Given the description of an element on the screen output the (x, y) to click on. 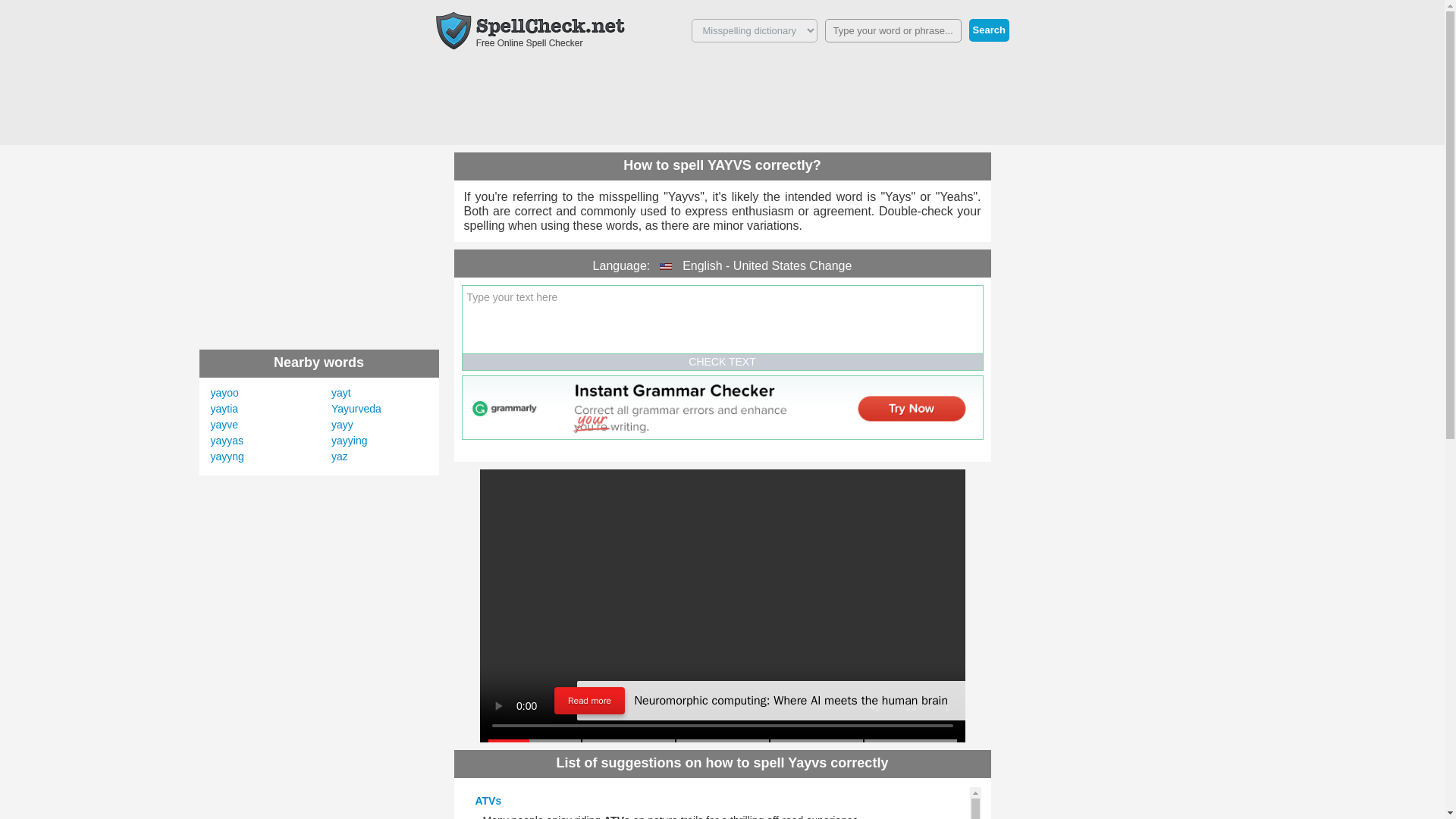
yayt (340, 392)
yayy (342, 424)
yaytia (224, 408)
yayt (340, 392)
yayyas (227, 440)
yayying (348, 440)
Yayurveda (356, 408)
yayoo (224, 392)
yaz (339, 456)
Change (830, 265)
yaytia (224, 408)
yayyng (227, 456)
yayve (224, 424)
Search (989, 29)
Spellcheck.net (529, 30)
